Given the description of an element on the screen output the (x, y) to click on. 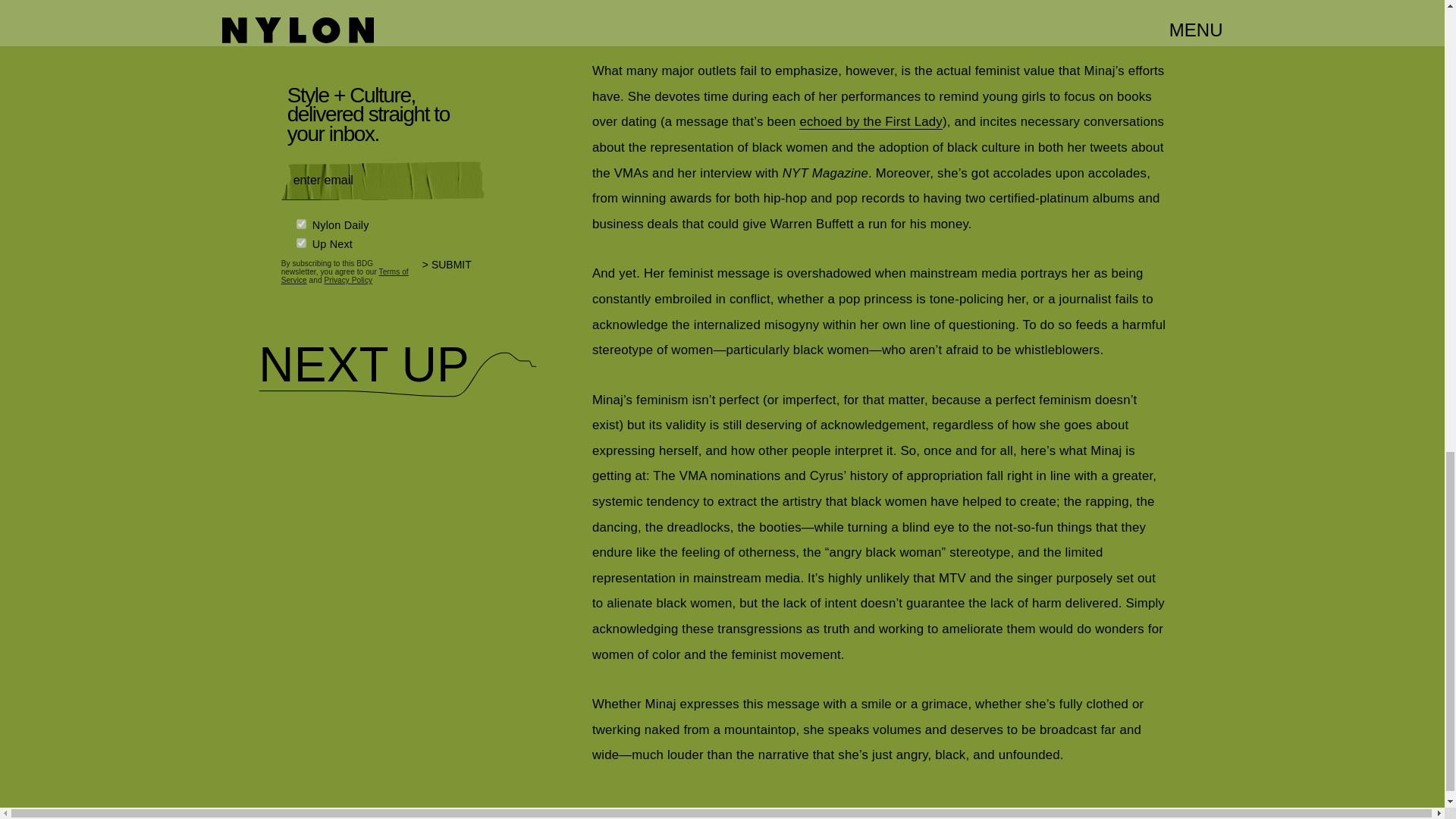
Privacy Policy (347, 280)
echoed by the First Lady (870, 121)
SUBMIT (453, 274)
Terms of Service (345, 275)
